Given the description of an element on the screen output the (x, y) to click on. 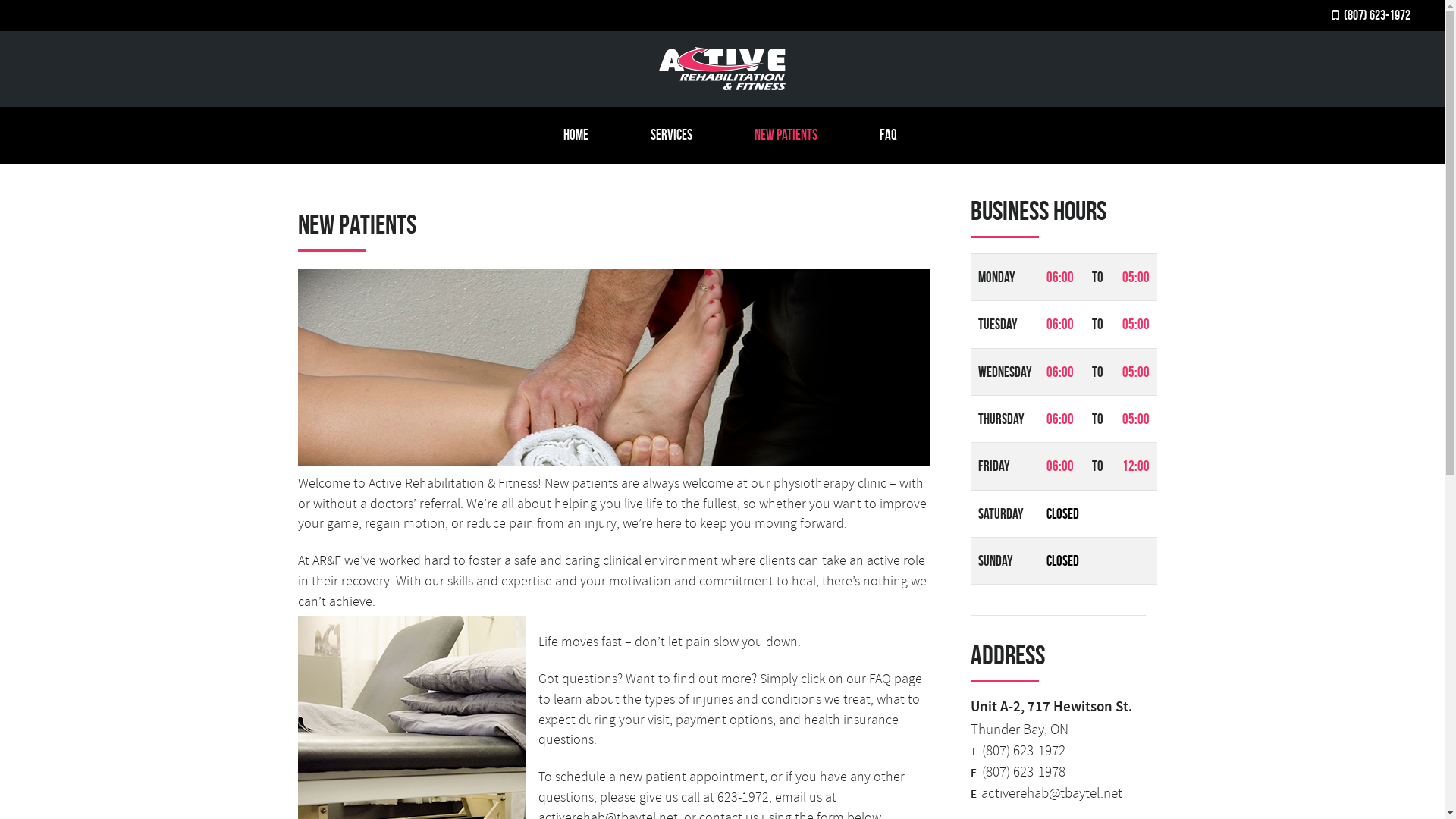
activerehab@tbaytel.net Element type: text (1051, 793)
FAQ Element type: text (895, 134)
623-1972 Element type: text (742, 796)
Home Element type: text (582, 134)
New Patients Element type: text (792, 134)
(807) 623-1972 Element type: text (1370, 15)
Services Element type: text (678, 134)
